Given the description of an element on the screen output the (x, y) to click on. 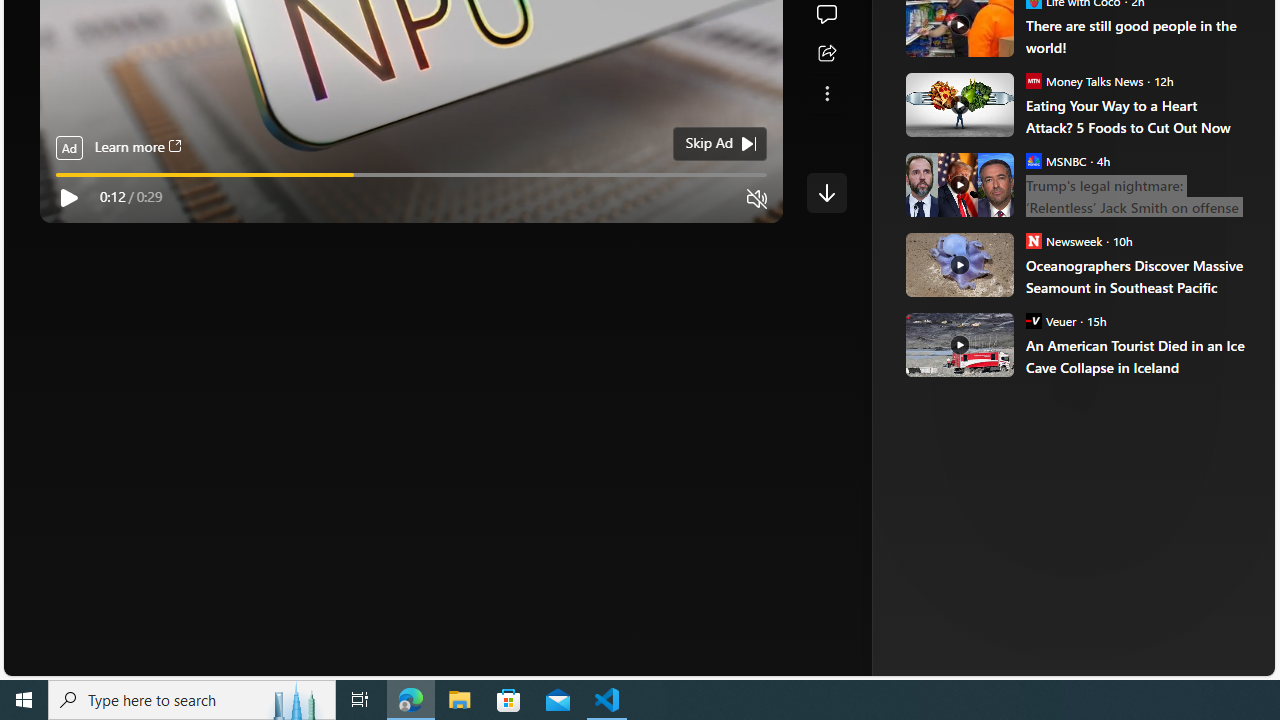
Veuer Veuer (1050, 320)
MSNBC (1033, 160)
Skip Ad (708, 143)
An American Tourist Died in an Ice Cave Collapse in Iceland (1136, 356)
Eating Your Way to a Heart Attack? 5 Foods to Cut Out Now (1136, 116)
MSNBC MSNBC (1055, 160)
Class: control (826, 192)
Newsweek (1033, 240)
Unmute (757, 199)
Veuer (1033, 320)
Share this story (826, 53)
